Given the description of an element on the screen output the (x, y) to click on. 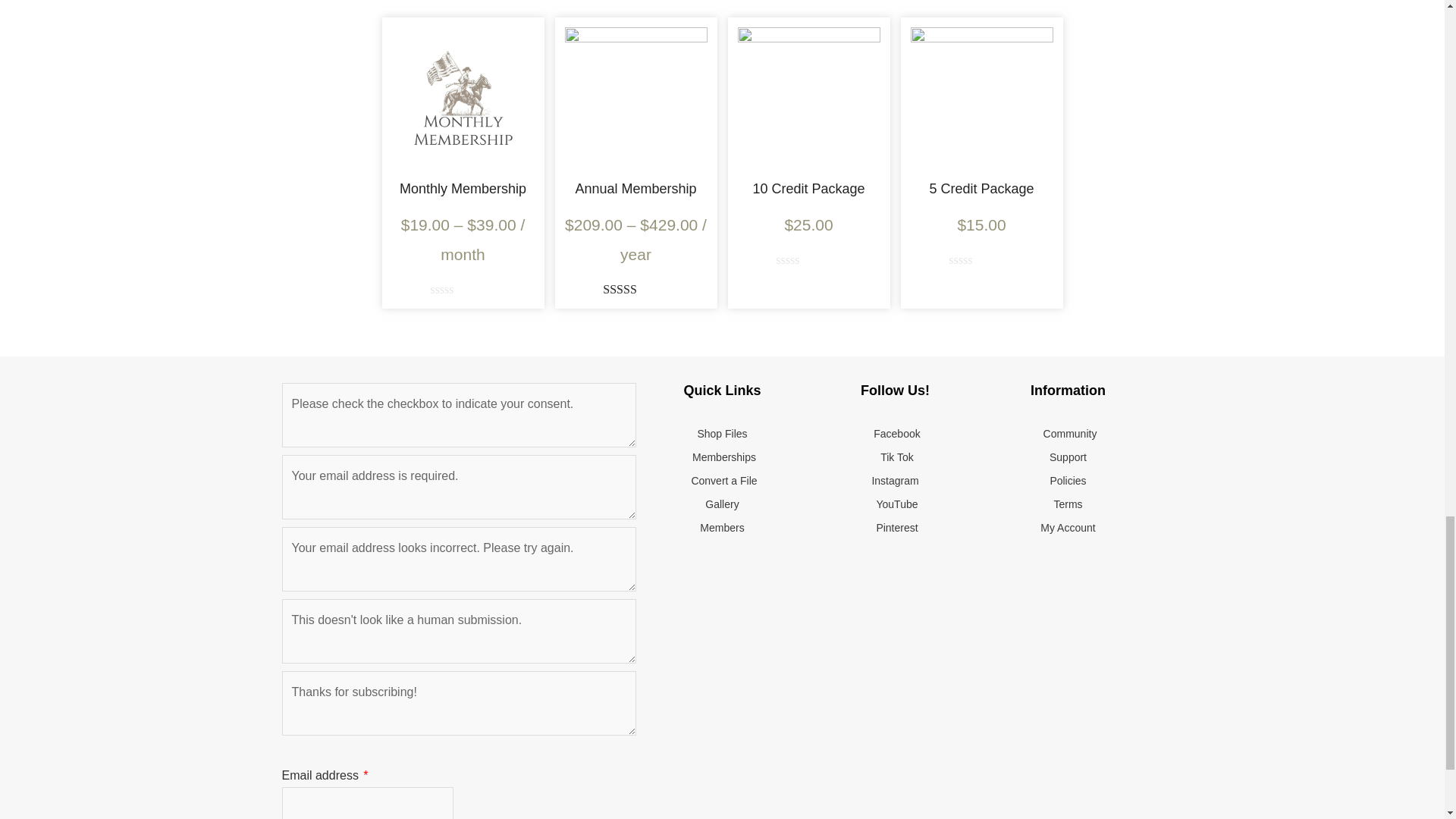
Monthly Membership (461, 188)
Annual Membership (635, 188)
